Given the description of an element on the screen output the (x, y) to click on. 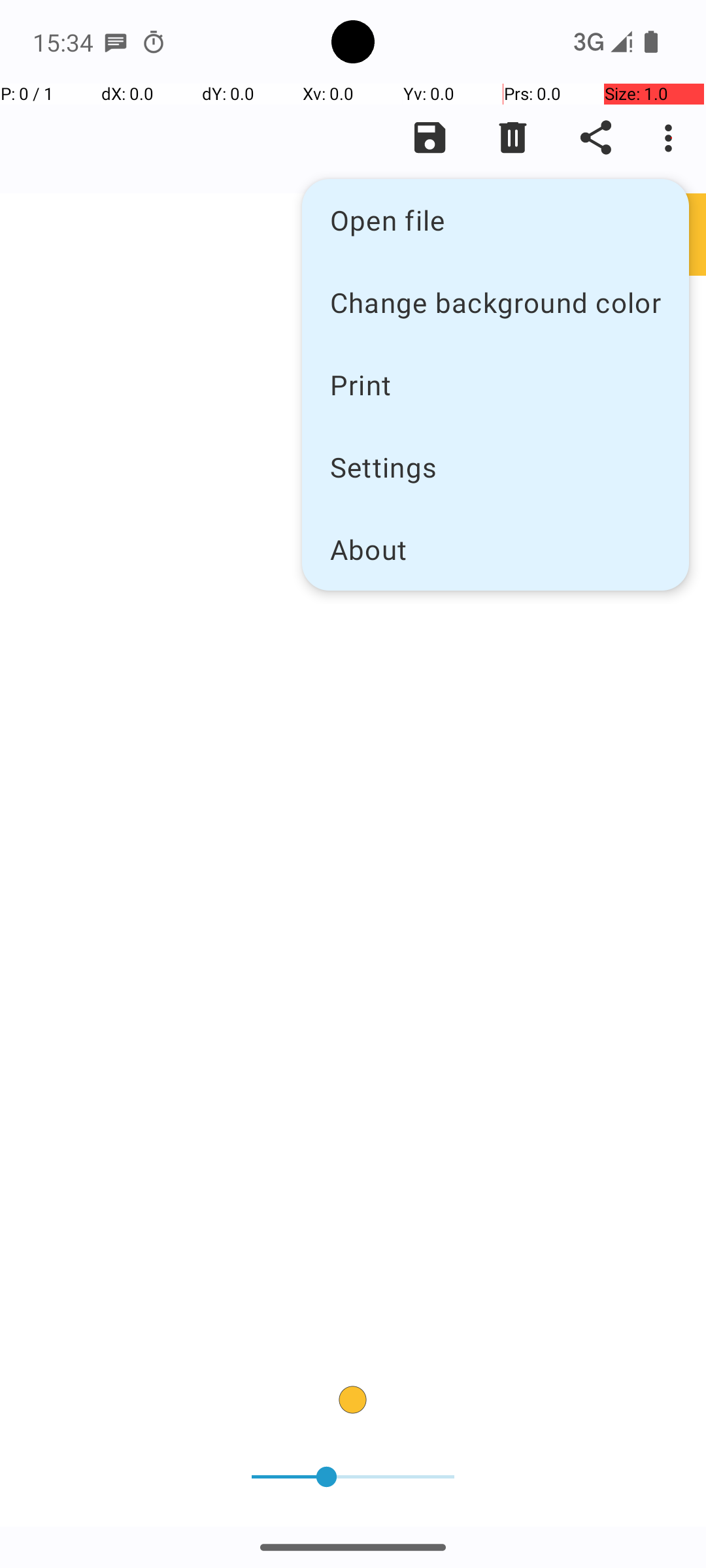
Open file Element type: android.widget.TextView (495, 219)
Change background color Element type: android.widget.TextView (495, 301)
